Given the description of an element on the screen output the (x, y) to click on. 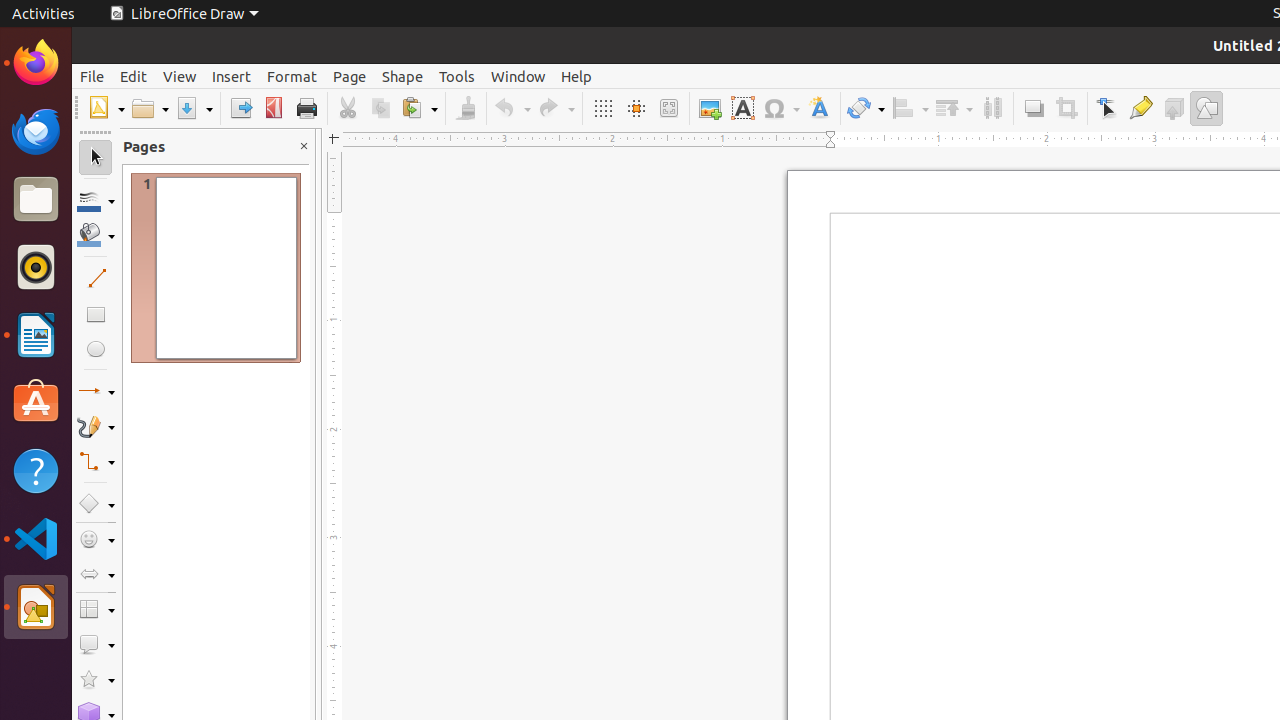
Arrange Element type: push-button (954, 108)
Rhythmbox Element type: push-button (36, 267)
Insert Element type: menu (231, 76)
Files Element type: push-button (36, 199)
Grid Element type: toggle-button (602, 108)
